Given the description of an element on the screen output the (x, y) to click on. 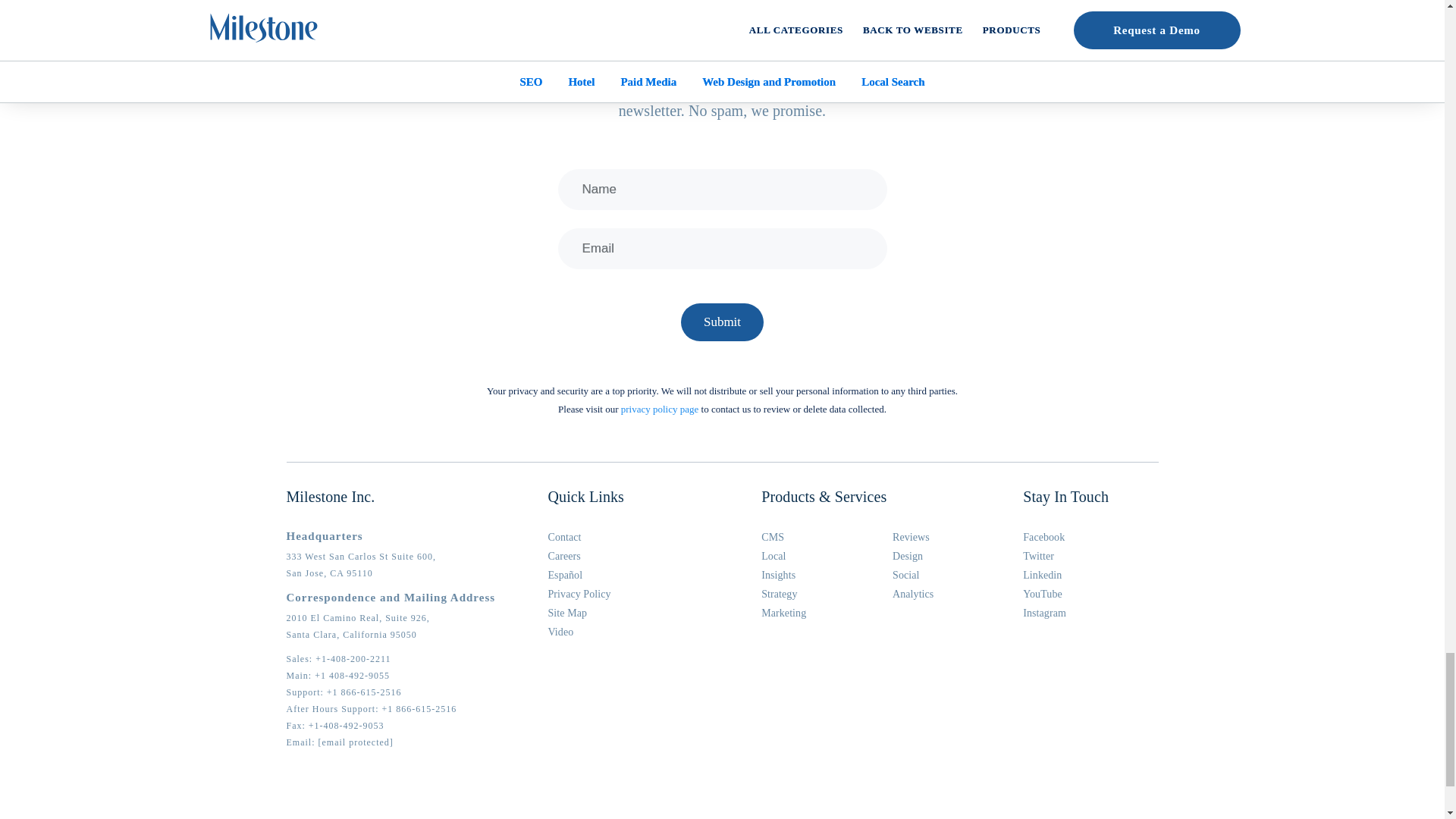
Submit (721, 322)
Site Map (566, 613)
Privacy Policy (578, 593)
Contact (563, 536)
Careers (563, 555)
Video Site Map (560, 632)
